Given the description of an element on the screen output the (x, y) to click on. 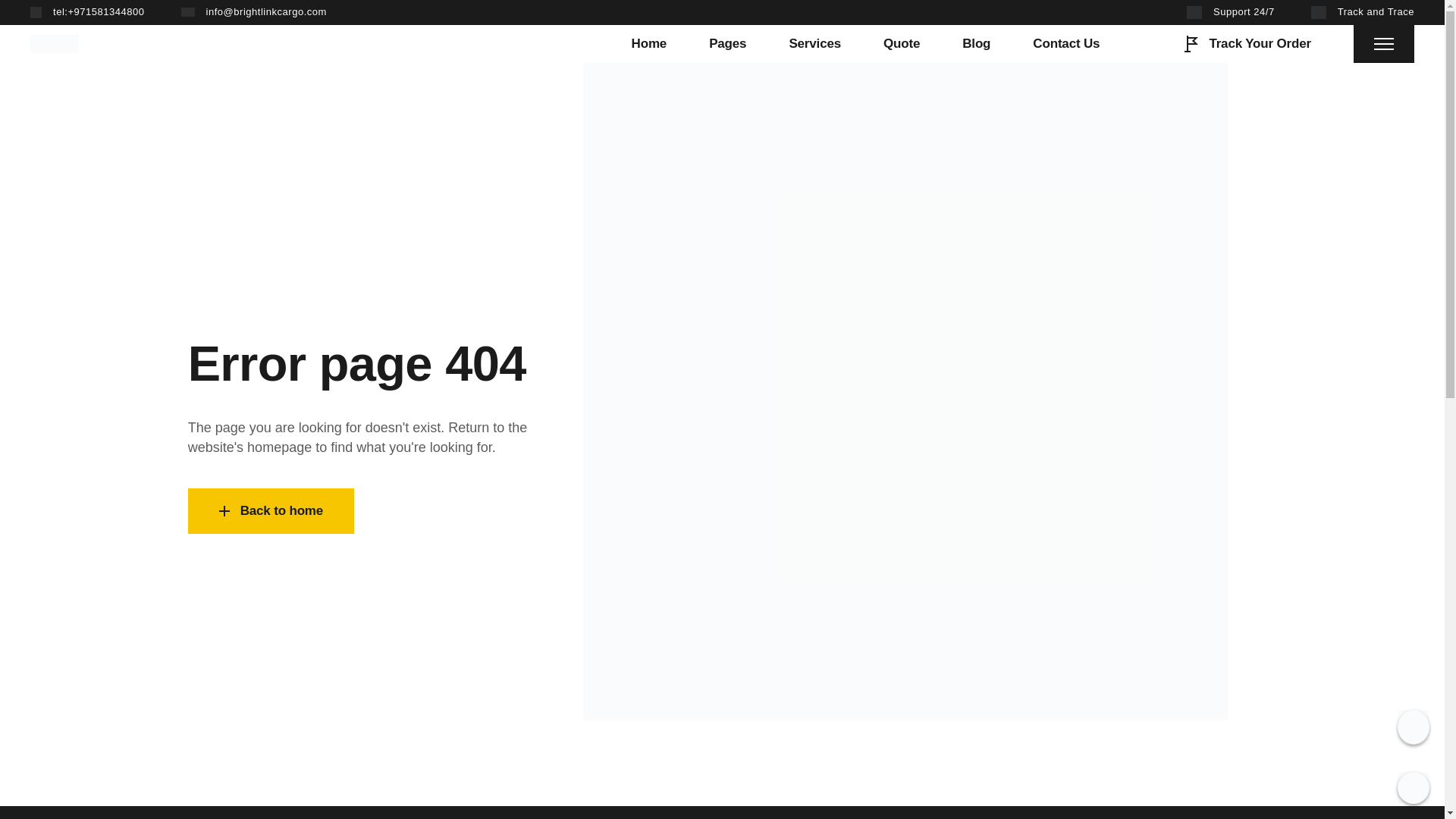
Services (815, 44)
Track and Trace (1362, 11)
Home (648, 44)
Pages (727, 44)
